Given the description of an element on the screen output the (x, y) to click on. 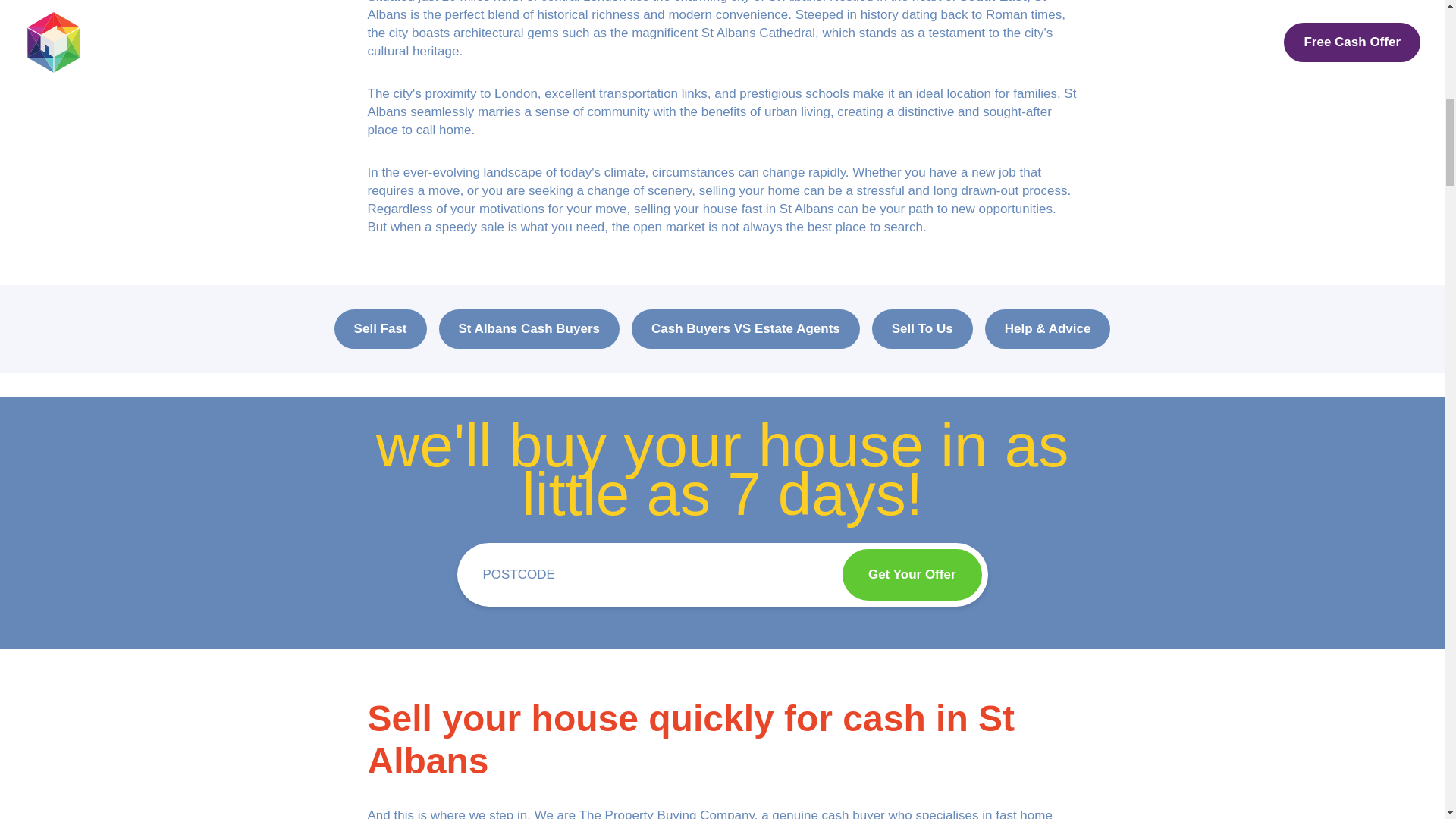
Sell To Us (922, 328)
St Albans Cash Buyers (529, 328)
Sell Fast  (380, 328)
 Cash Buyers VS Estate Agents (745, 328)
